Given the description of an element on the screen output the (x, y) to click on. 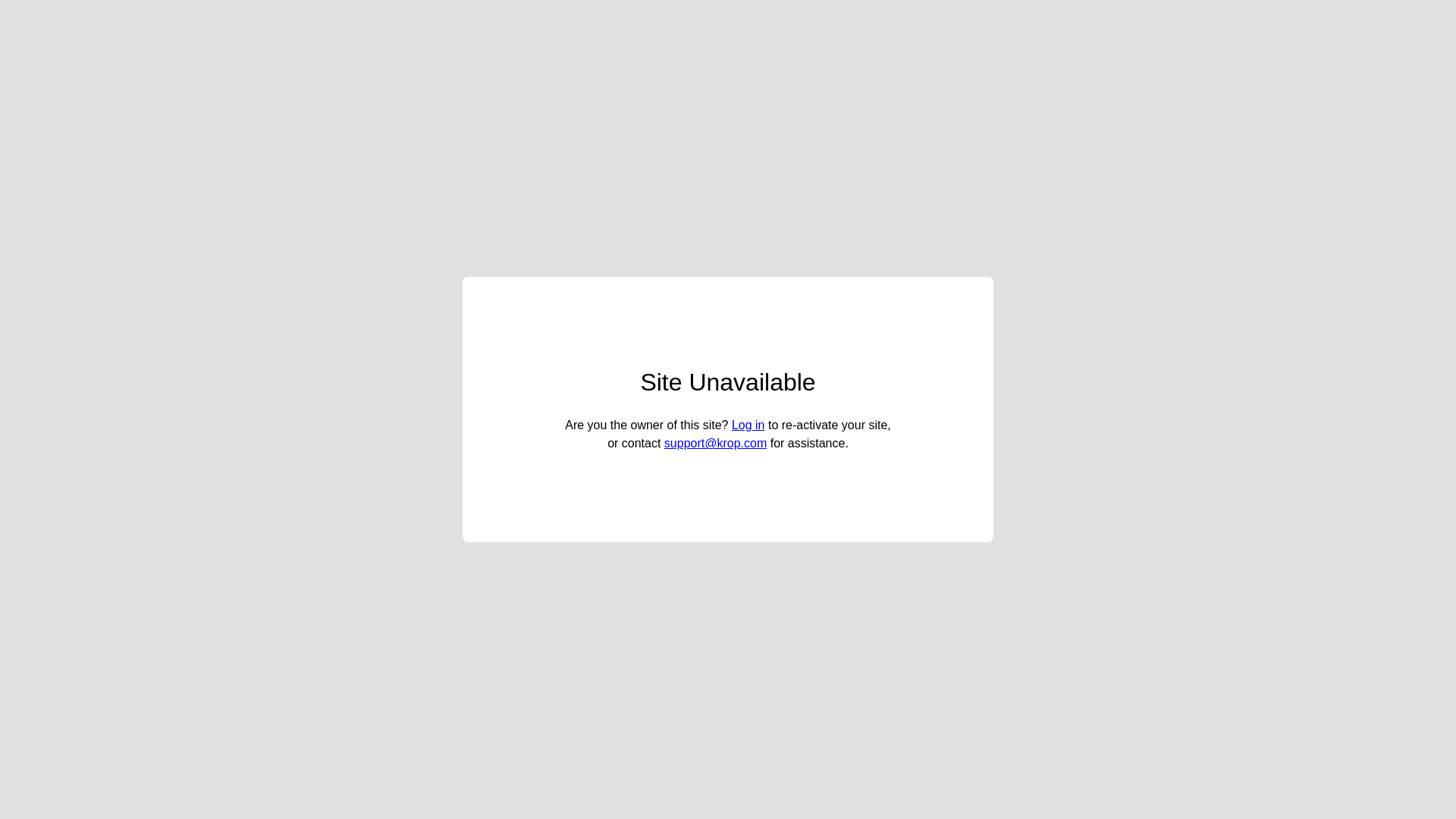
support@krop.com Element type: text (715, 442)
Log in Element type: text (748, 424)
